Given the description of an element on the screen output the (x, y) to click on. 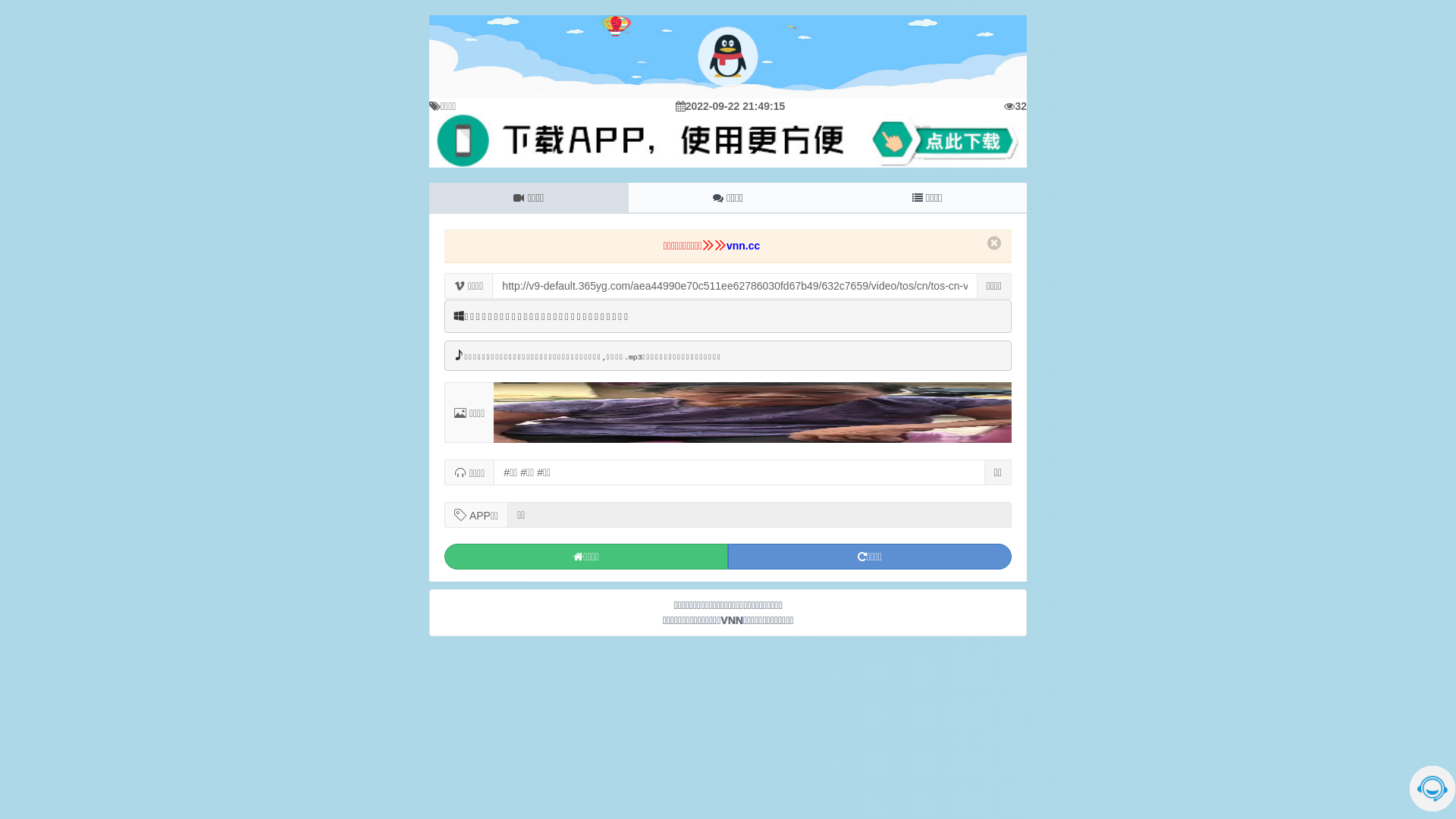
vnn.cc Element type: text (742, 245)
